Given the description of an element on the screen output the (x, y) to click on. 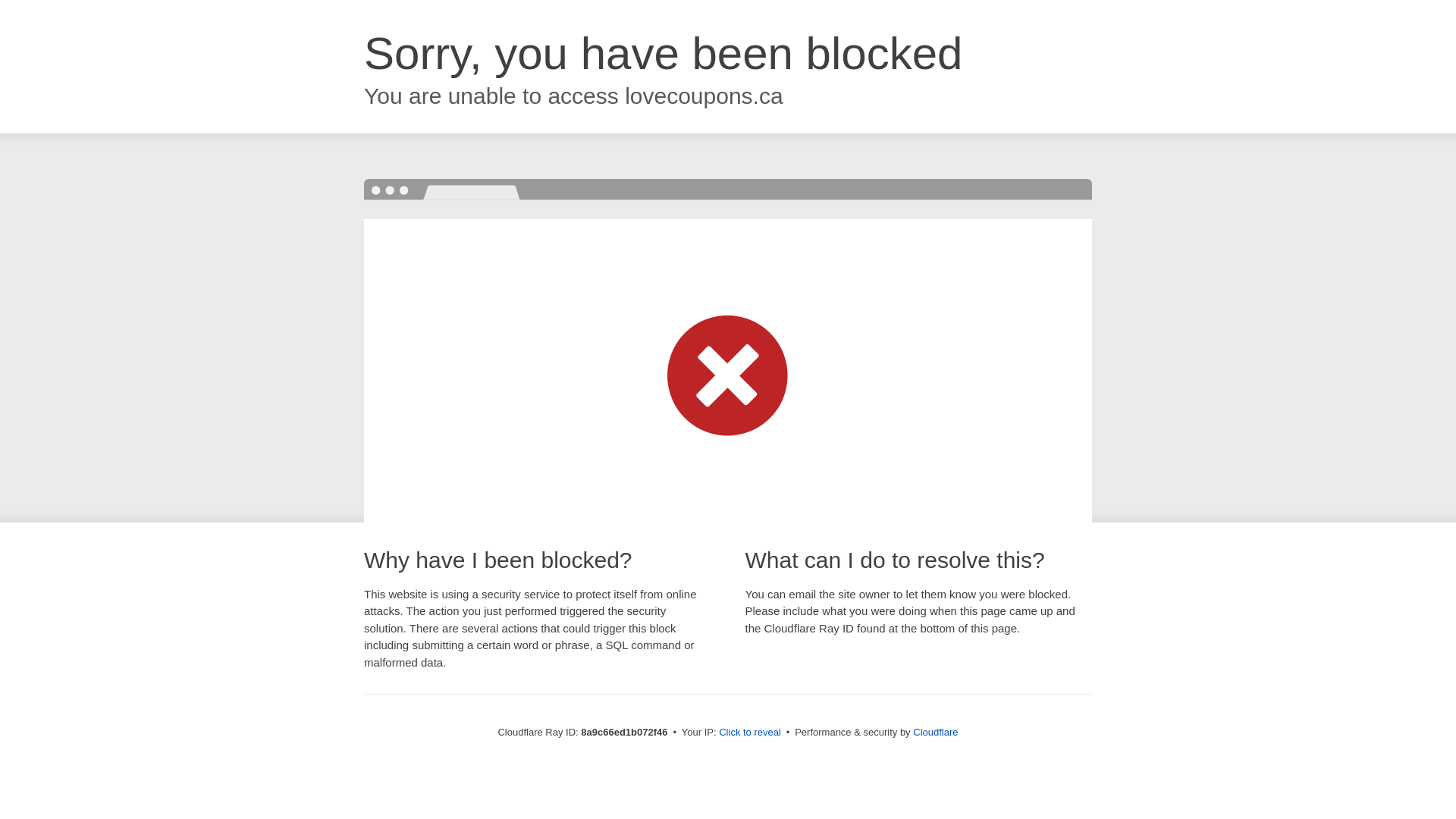
Click to reveal (749, 732)
Cloudflare (935, 731)
